Given the description of an element on the screen output the (x, y) to click on. 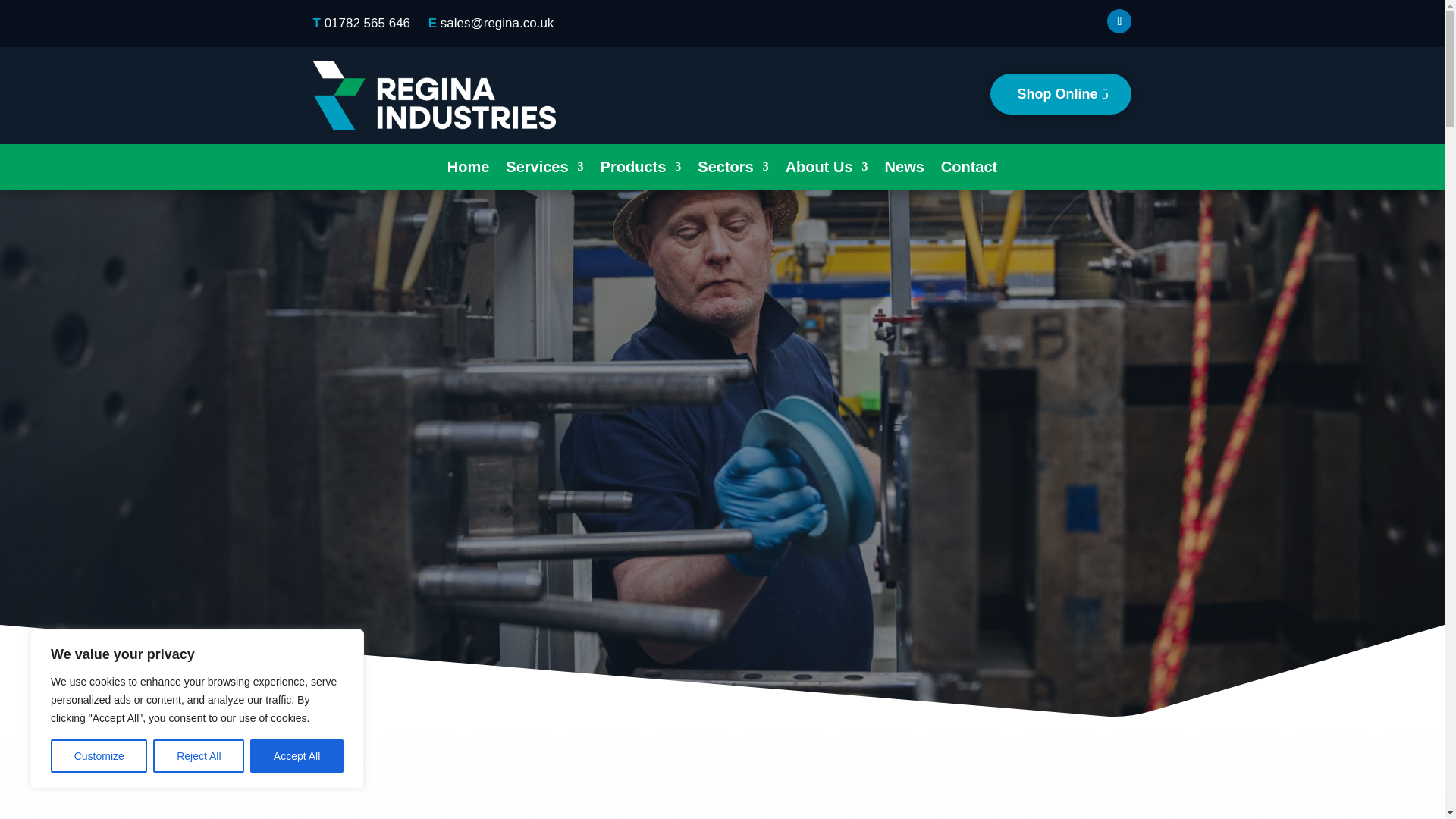
Services (544, 169)
Follow on LinkedIn (1118, 21)
Accept All (296, 756)
Reject All (198, 756)
Sectors (732, 169)
Customize (98, 756)
Shop Online (1060, 94)
Home (467, 169)
Products (640, 169)
01782 565 646 (367, 22)
